Given the description of an element on the screen output the (x, y) to click on. 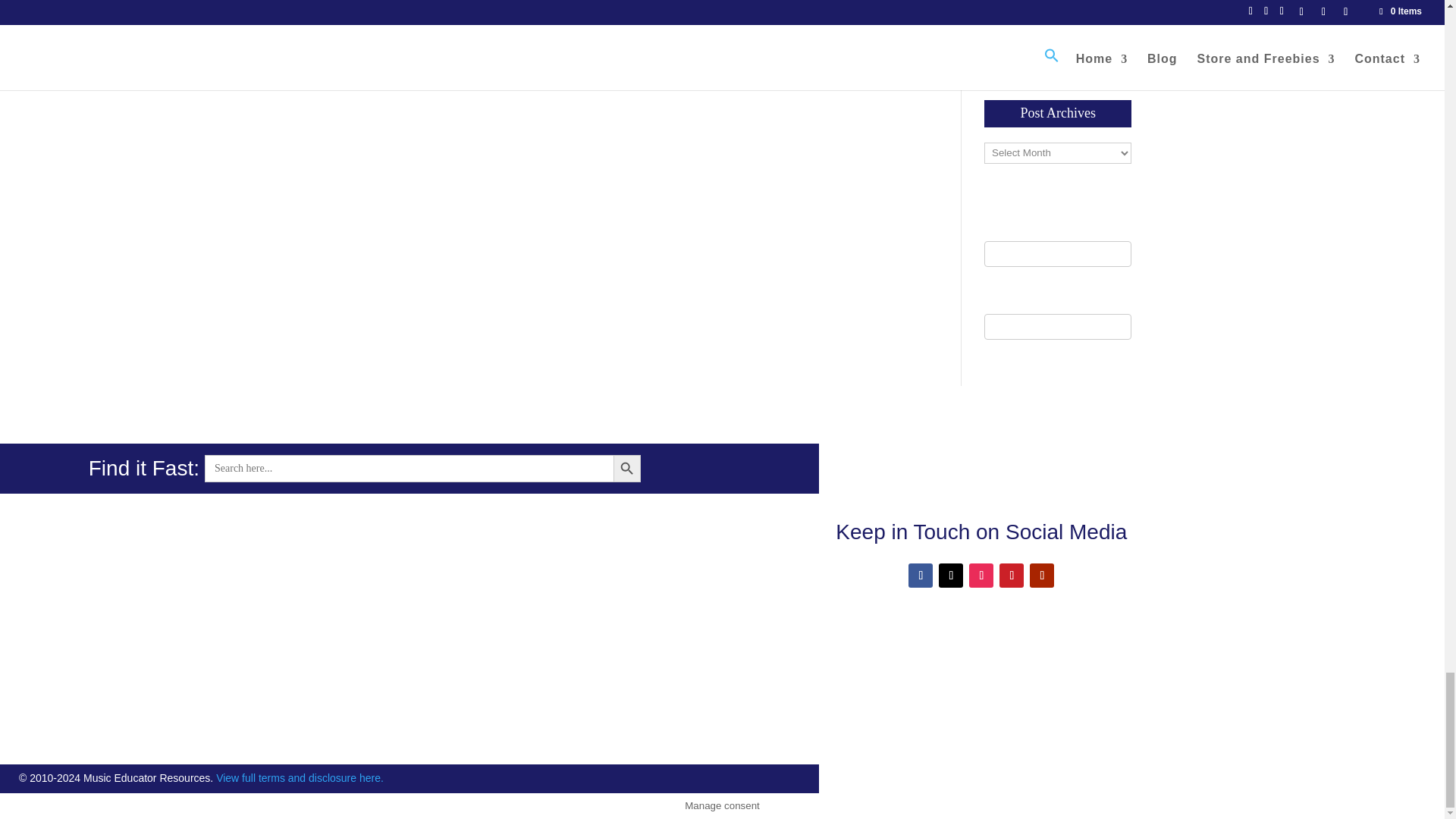
Follow on Youtube (1041, 575)
MER Logo very small (981, 676)
Follow on Instagram (980, 575)
Follow on Facebook (920, 575)
Follow on Pinterest (1010, 575)
Follow on X (950, 575)
